Given the description of an element on the screen output the (x, y) to click on. 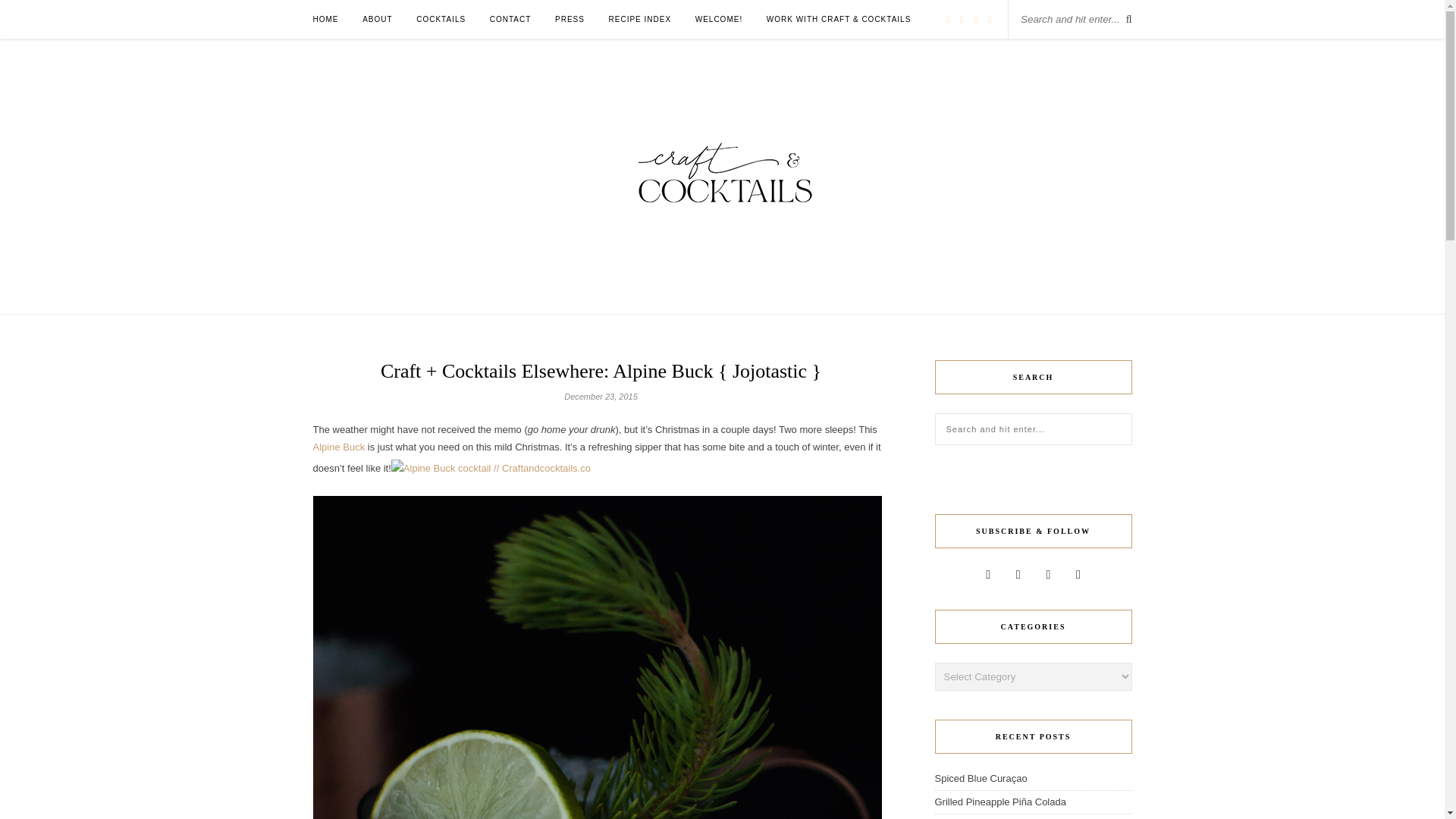
COCKTAILS (440, 19)
Alpine Buck (339, 446)
RECIPE INDEX (639, 19)
CONTACT (510, 19)
WELCOME! (718, 19)
